Given the description of an element on the screen output the (x, y) to click on. 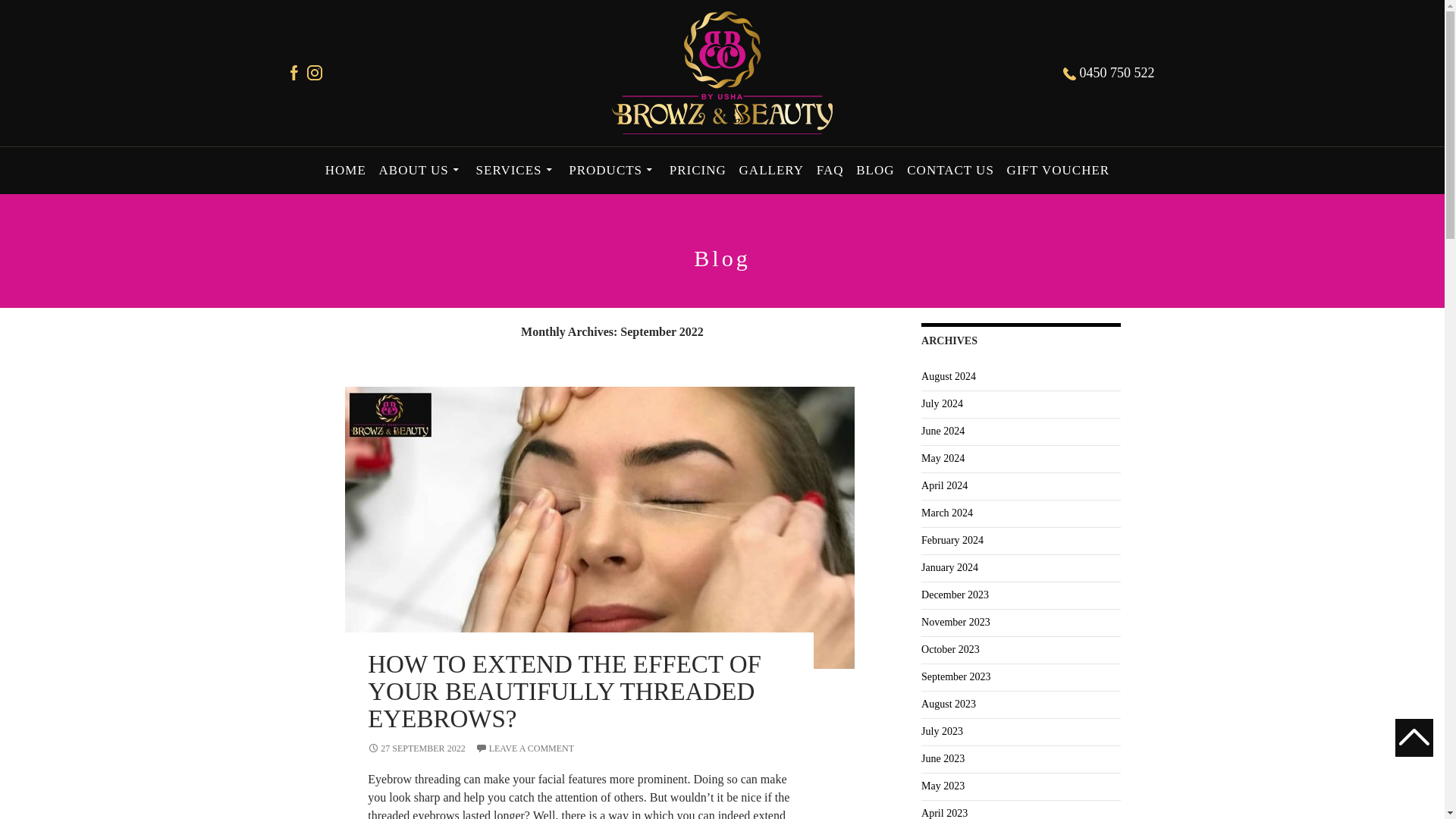
ABOUT US (421, 170)
PRODUCTS (612, 170)
GIFT VOUCHER (1058, 170)
BLOG (874, 170)
PRICING (697, 170)
27 SEPTEMBER 2022 (416, 747)
SERVICES (516, 170)
CONTACT US (949, 170)
